Given the description of an element on the screen output the (x, y) to click on. 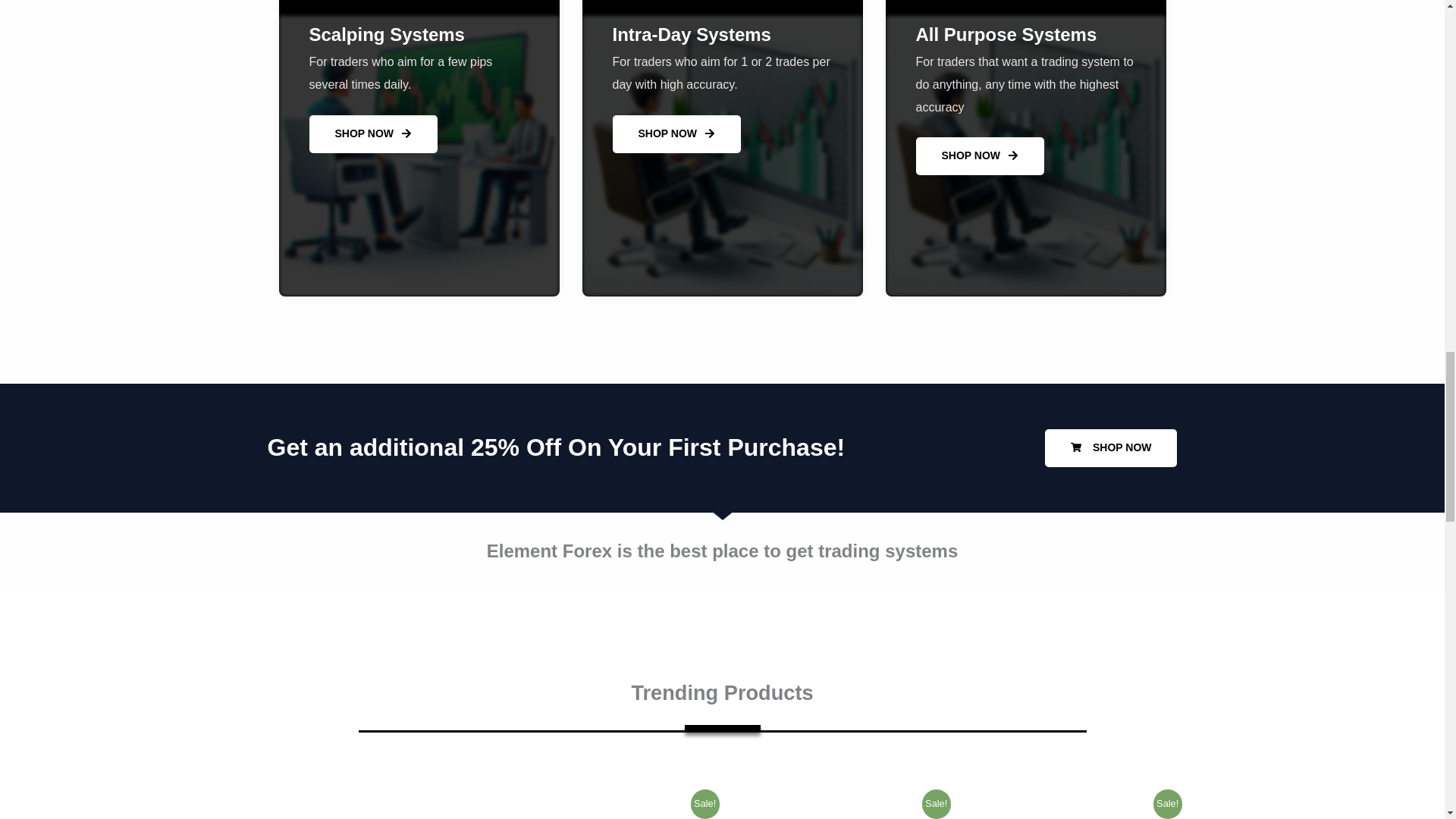
SHOP NOW (1111, 447)
SHOP NOW (676, 134)
SHOP NOW (373, 134)
SHOP NOW (980, 156)
